Given the description of an element on the screen output the (x, y) to click on. 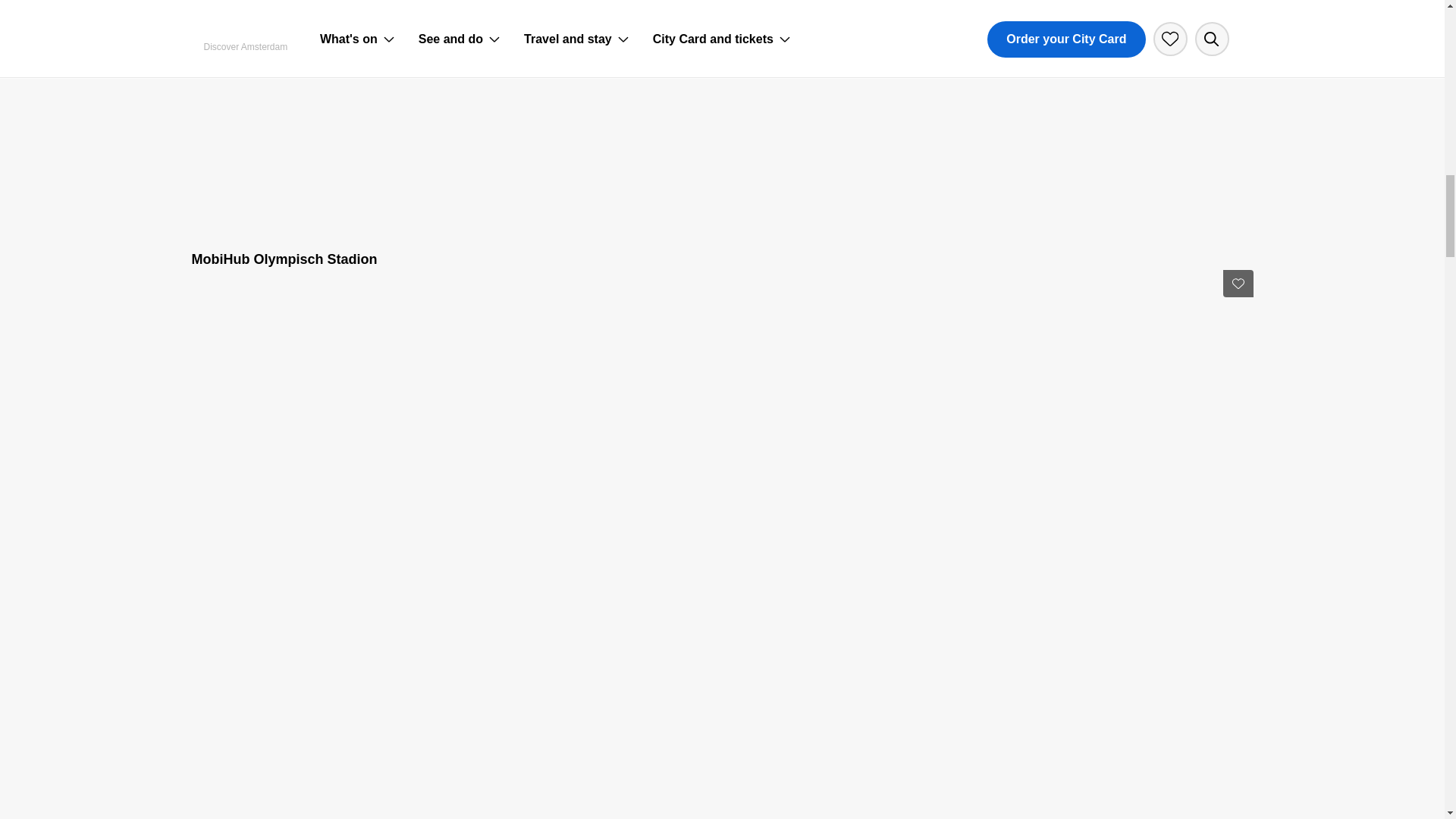
Add to favourites (1237, 283)
